Given the description of an element on the screen output the (x, y) to click on. 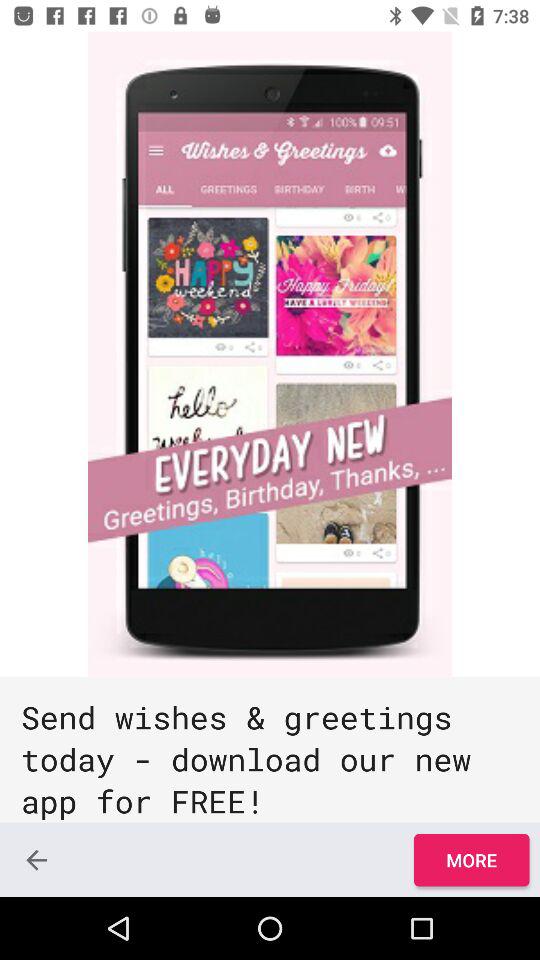
wireless cellular device (270, 353)
